Given the description of an element on the screen output the (x, y) to click on. 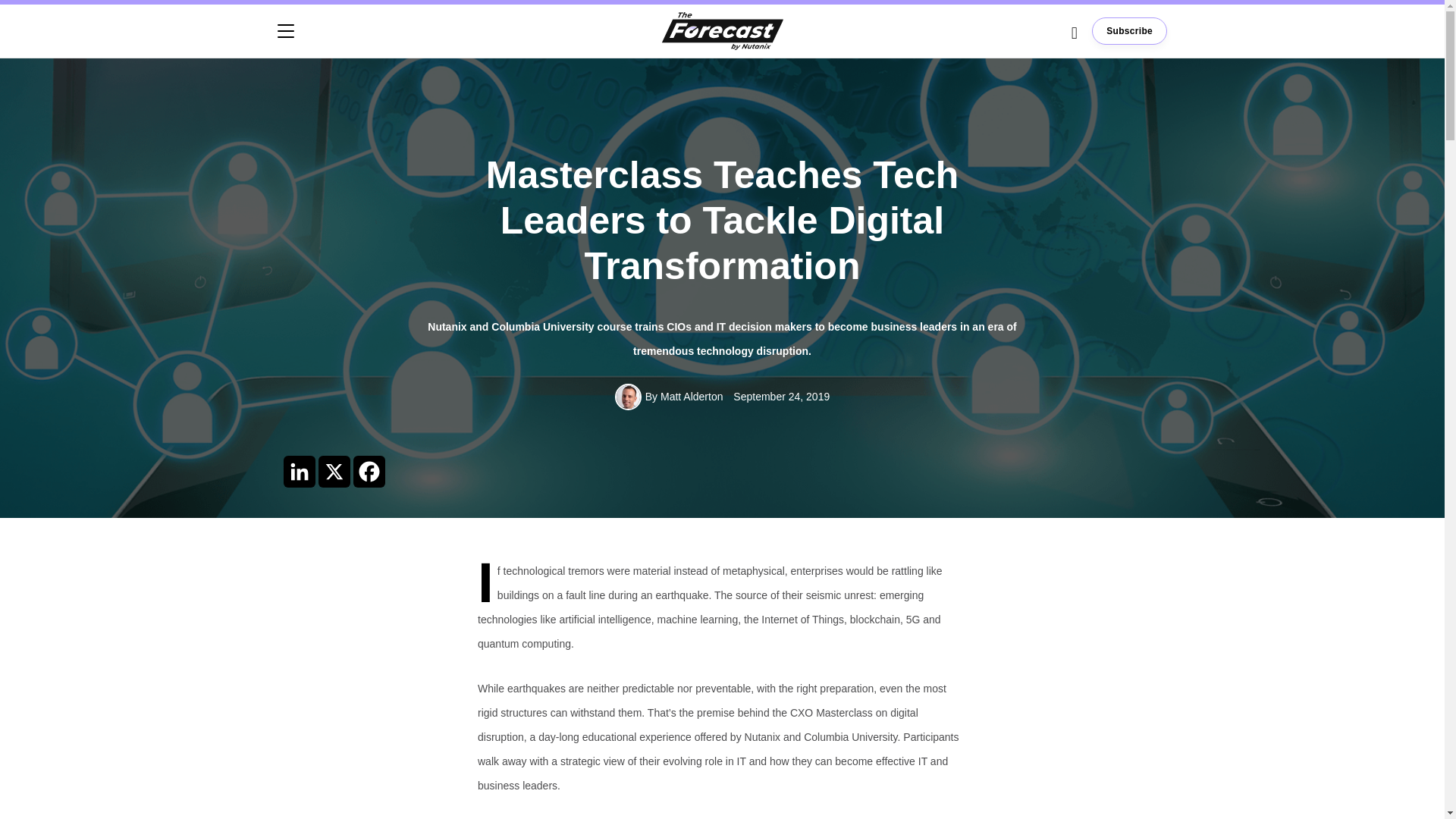
LinkedIn (299, 470)
Facebook (369, 470)
X (334, 470)
Subscribe (1129, 31)
